Given the description of an element on the screen output the (x, y) to click on. 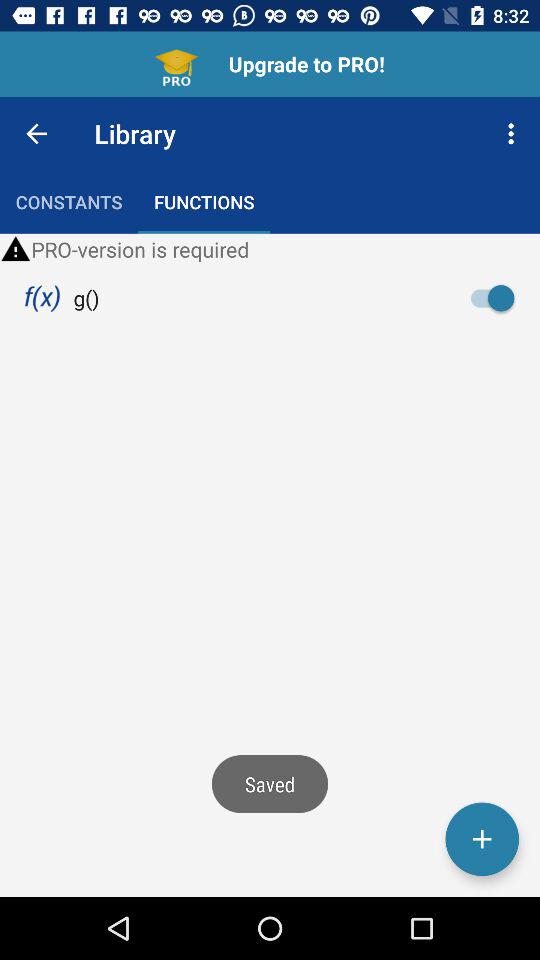
choose the icon below pro version is item (42, 298)
